Given the description of an element on the screen output the (x, y) to click on. 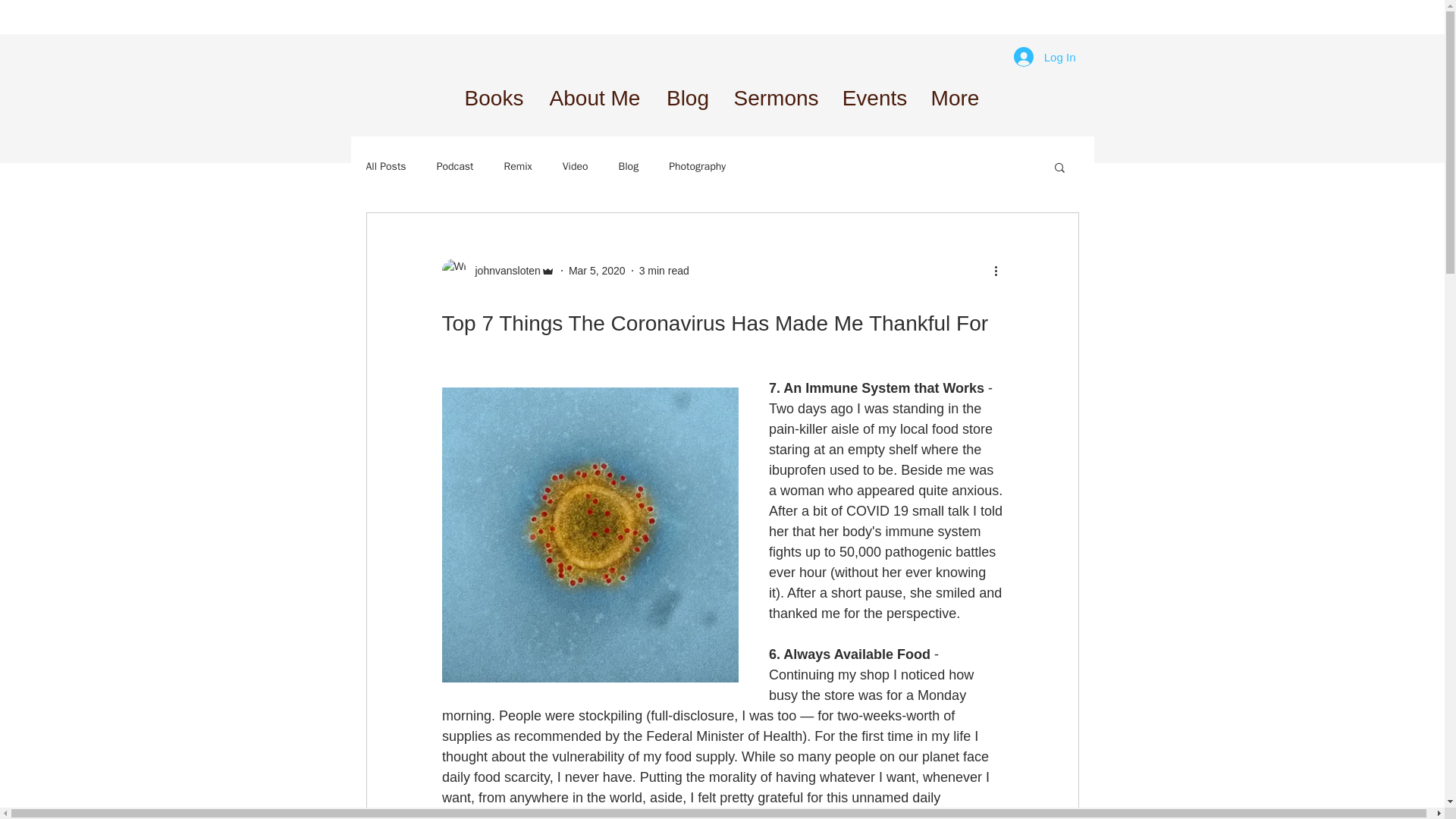
Video (575, 166)
johnvansloten (502, 270)
Mar 5, 2020 (597, 269)
Events (873, 98)
Blog (628, 166)
johnvansloten (497, 270)
Log In (1044, 56)
Remix (517, 166)
Blog (687, 98)
Photography (696, 166)
About Me (593, 98)
Podcast (455, 166)
3 min read (663, 269)
All Posts (385, 166)
Books (493, 98)
